Given the description of an element on the screen output the (x, y) to click on. 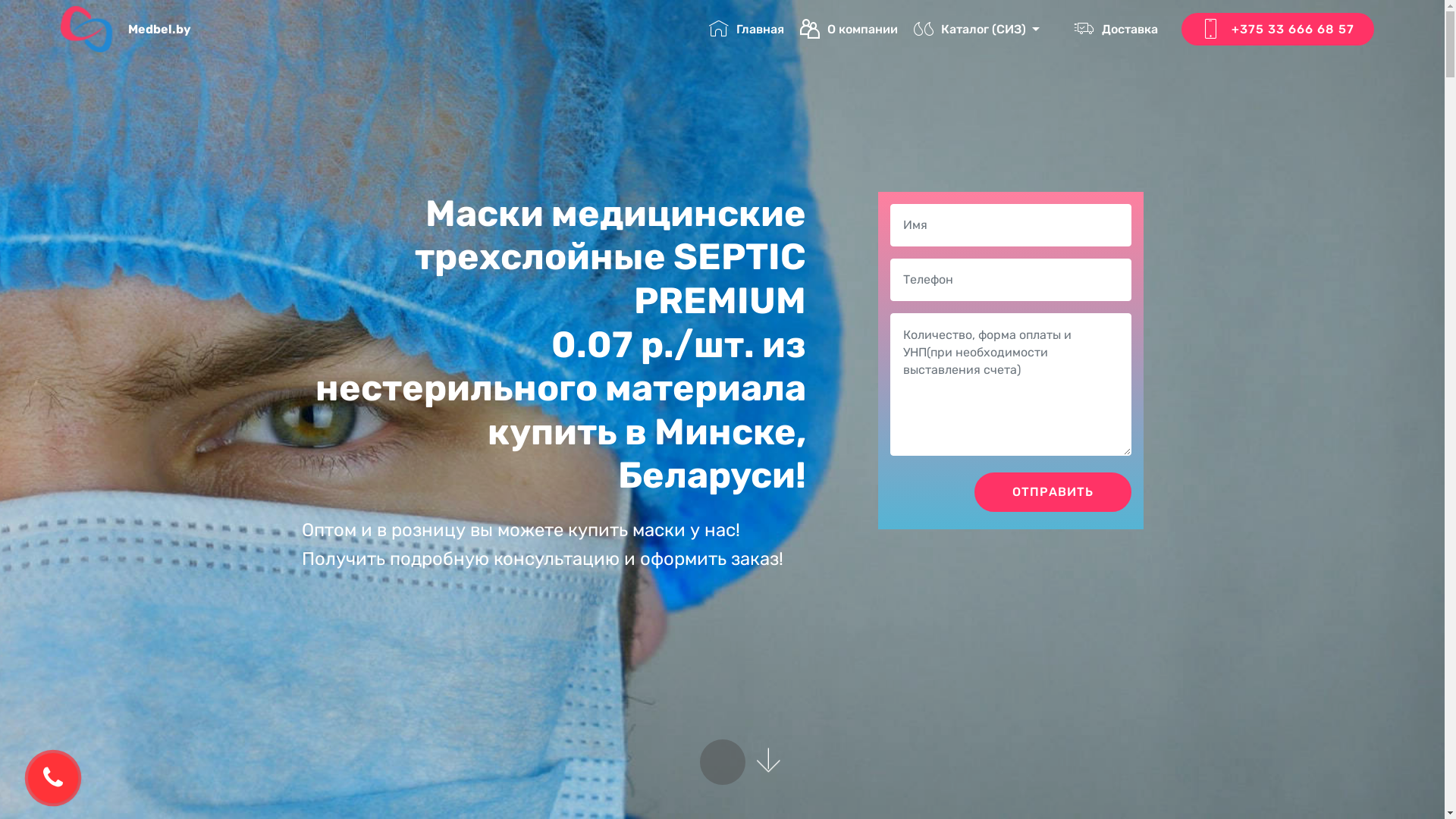
Medbel.by Element type: text (171, 28)
 +375 33 666 68 57 Element type: text (1277, 28)
  Element type: text (1056, 28)
